Given the description of an element on the screen output the (x, y) to click on. 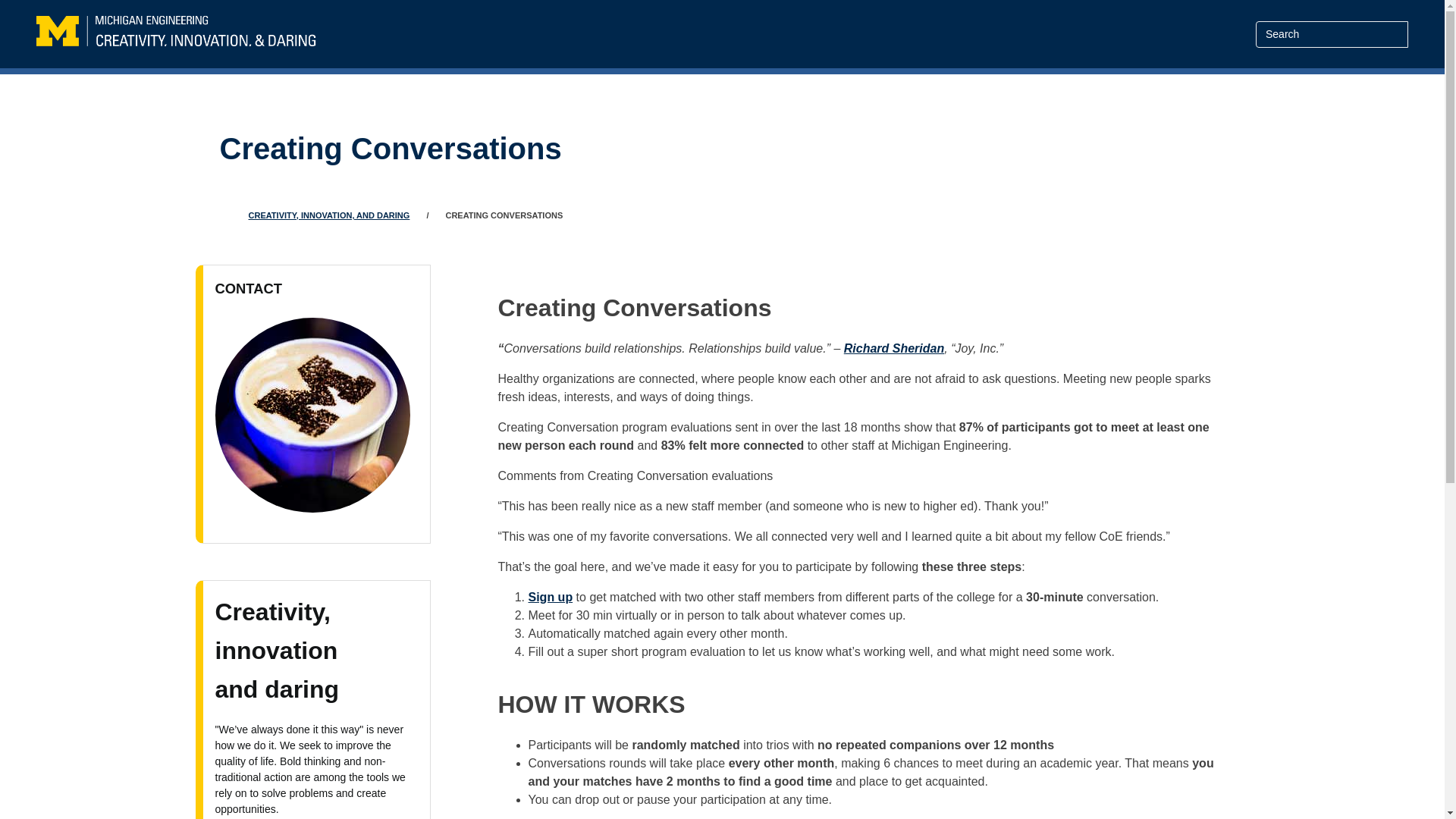
Richard Sheridan (893, 348)
Go to Creativity, Innovation, and Daring. (328, 215)
CREATIVITY, INNOVATION, AND DARING (328, 215)
Sign up (549, 596)
